Given the description of an element on the screen output the (x, y) to click on. 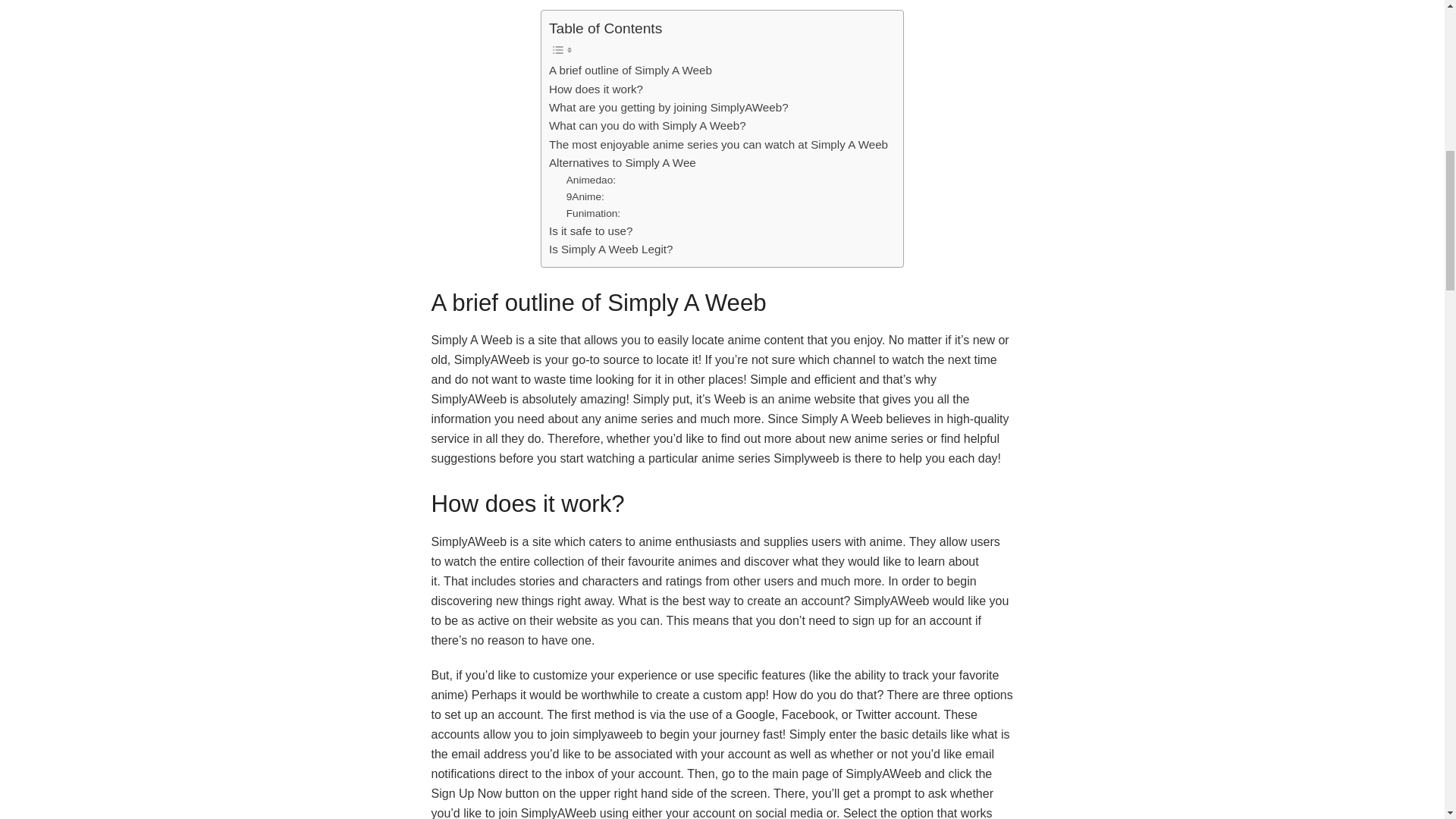
Is Simply A Weeb Legit? (610, 249)
Animedao: (590, 180)
A brief outline of Simply A Weeb (629, 70)
A brief outline of Simply A Weeb (629, 70)
Is it safe to use? (590, 230)
What are you getting by joining SimplyAWeeb? (668, 107)
Alternatives to Simply A Wee (621, 162)
What can you do with Simply A Weeb? (646, 126)
How does it work? (595, 89)
9Anime: (585, 197)
Funimation: (593, 213)
